Given the description of an element on the screen output the (x, y) to click on. 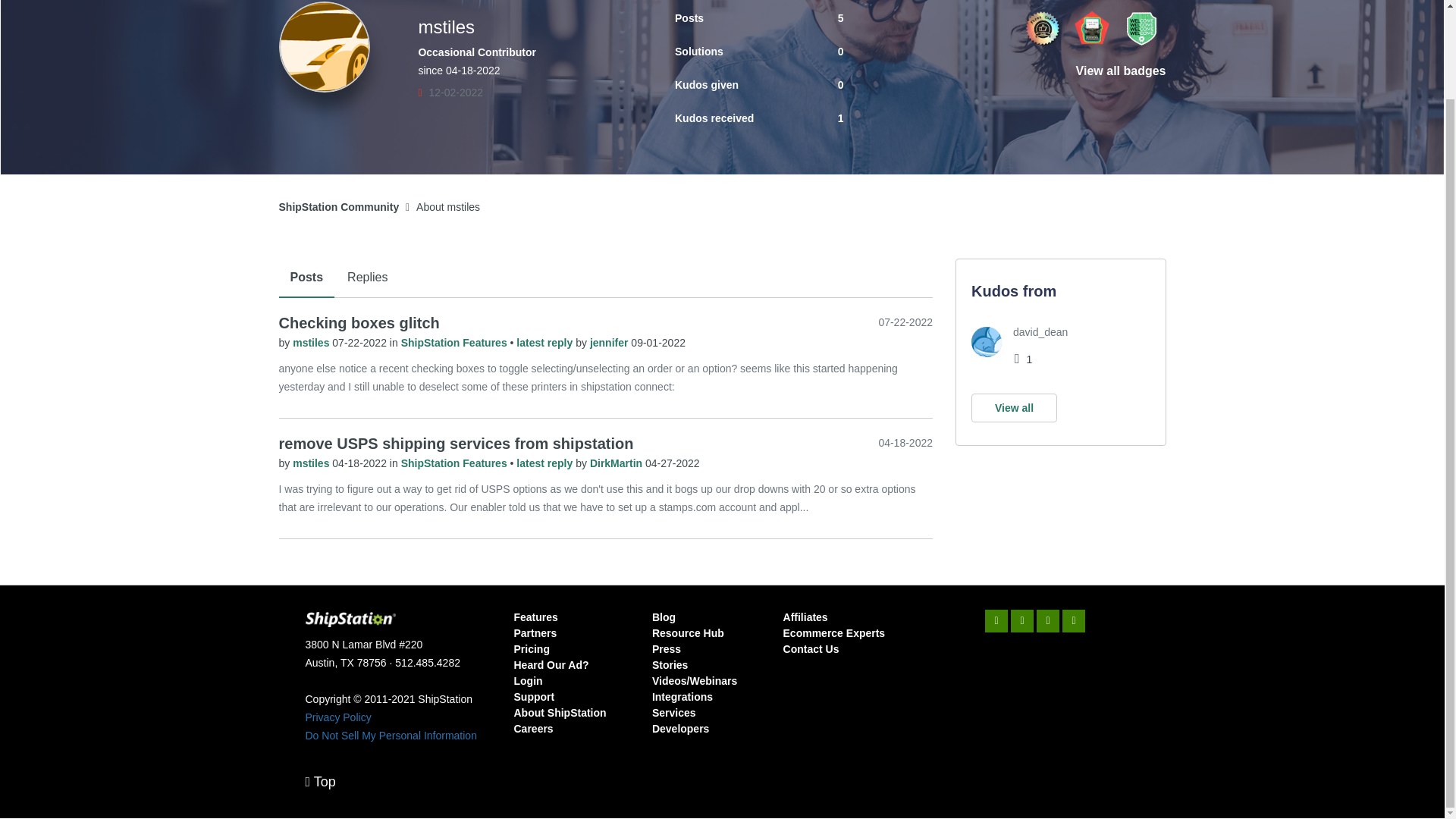
latest reply (545, 342)
View all (1014, 407)
mstiles (324, 46)
Replies (367, 278)
View profile (311, 342)
Posts (306, 278)
View profile (311, 463)
jennifer (609, 342)
Checking boxes glitch (359, 322)
View profile (617, 463)
remove USPS shipping services from shipstation (456, 443)
mstiles (311, 342)
07-22-2022 11:28 AM 07-22-2022 11:28 AM (905, 322)
View profile (609, 342)
ShipStation Features (456, 463)
